Given the description of an element on the screen output the (x, y) to click on. 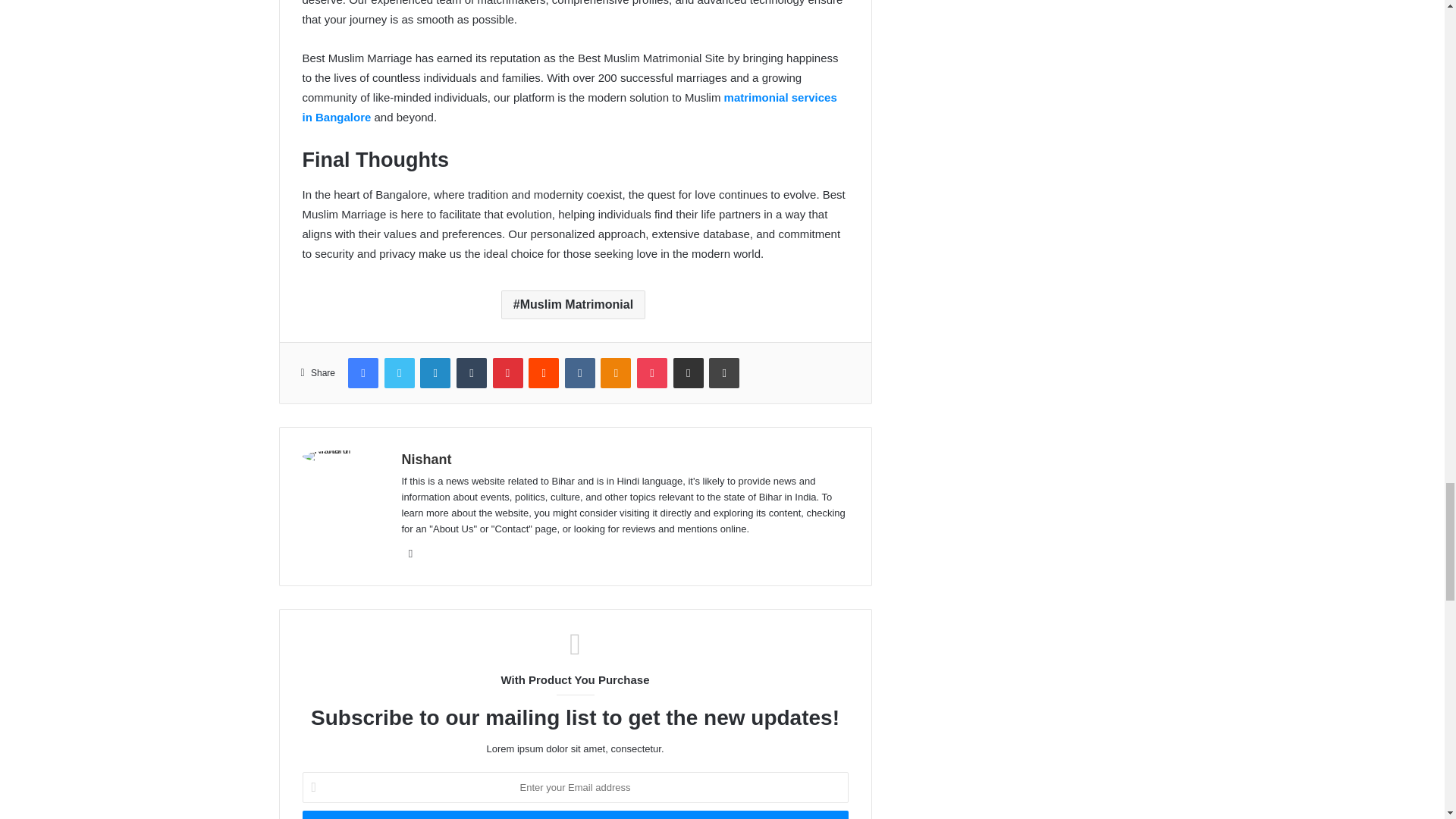
Muslim Matrimonial (572, 304)
Subscribe (574, 814)
matrimonial services in Bangalore (568, 106)
